Given the description of an element on the screen output the (x, y) to click on. 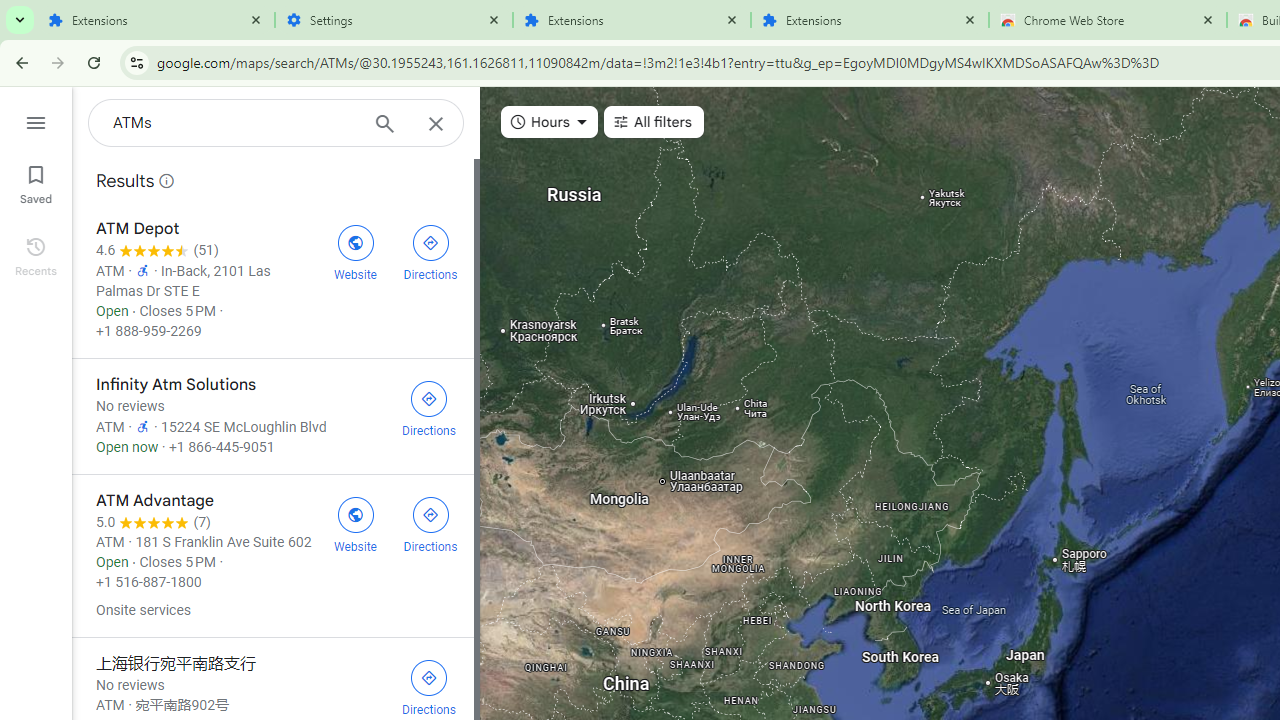
Chrome Web Store (1108, 20)
Extensions (632, 20)
Saved (35, 182)
ATM Depot (272, 280)
Visit ATM Advantage's website (354, 523)
Extensions (870, 20)
Get directions to Infinity Atm Solutions (429, 407)
Get directions to ATM Advantage (430, 523)
Menu (35, 120)
